Given the description of an element on the screen output the (x, y) to click on. 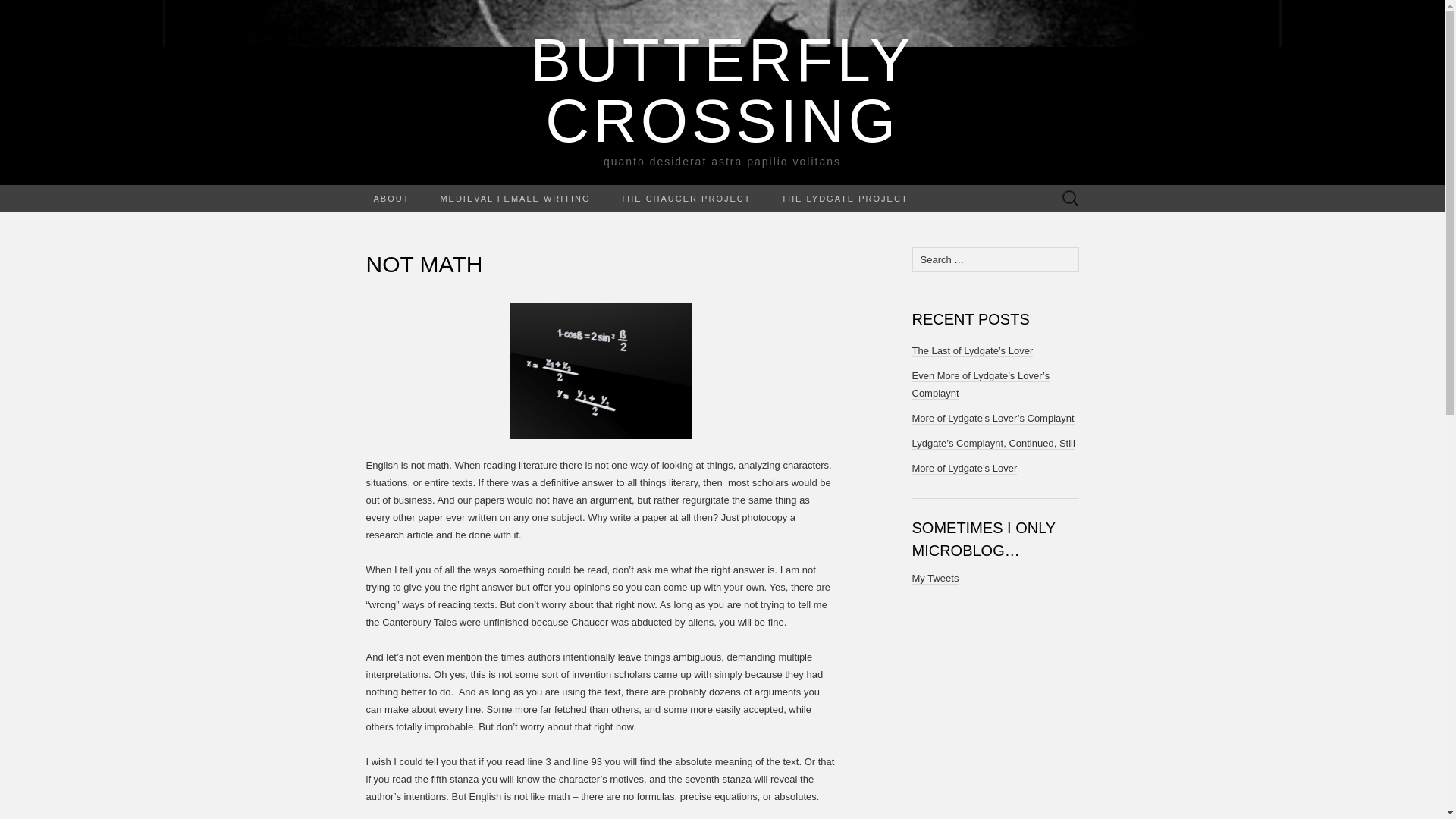
Search (39, 12)
ABOUT (391, 198)
THE LYDGATE PROJECT (844, 198)
Search (16, 12)
THE CHAUCER PROJECT (686, 198)
My Tweets (515, 198)
